Given the description of an element on the screen output the (x, y) to click on. 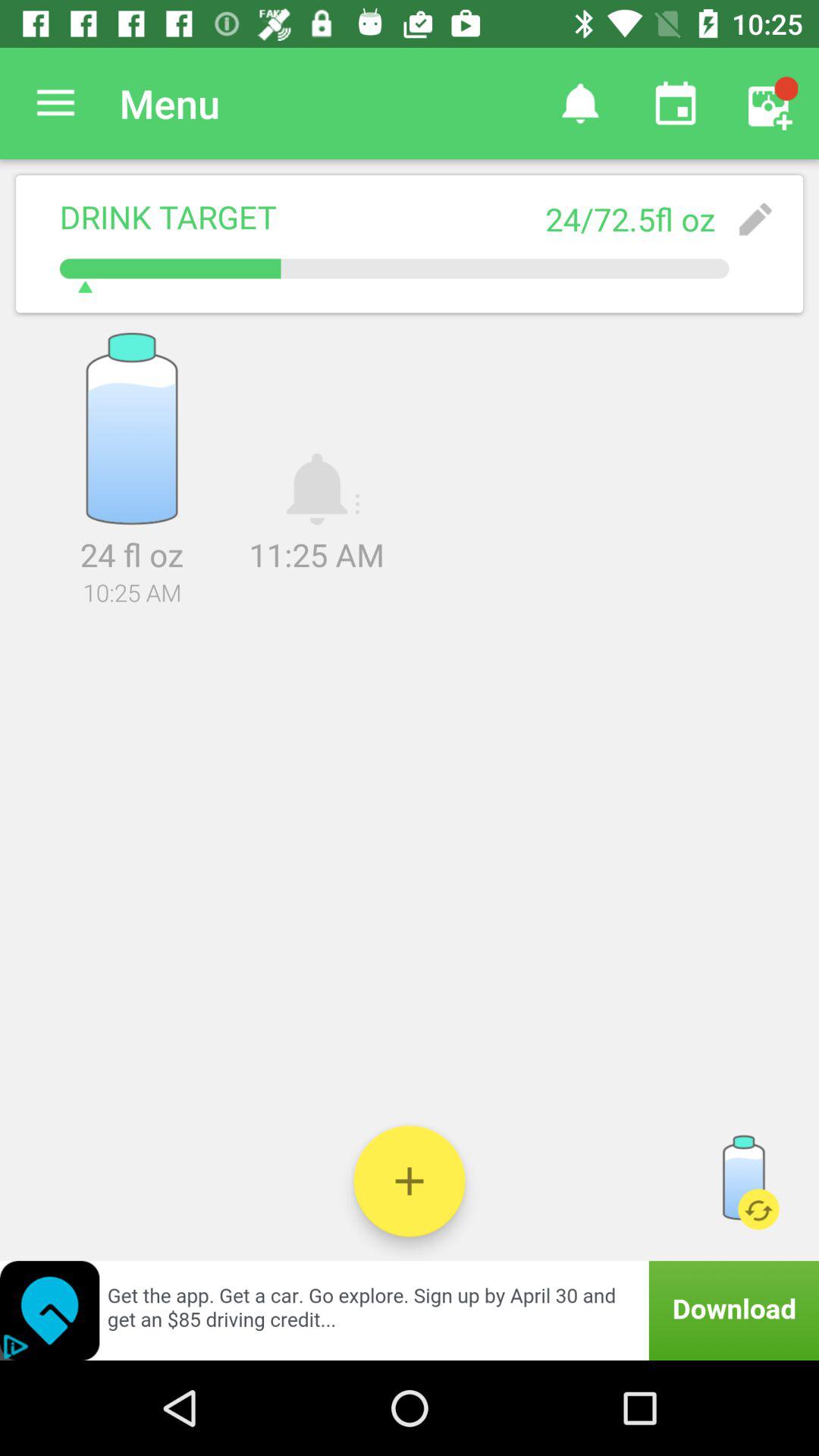
download advertisement app (409, 1310)
